Given the description of an element on the screen output the (x, y) to click on. 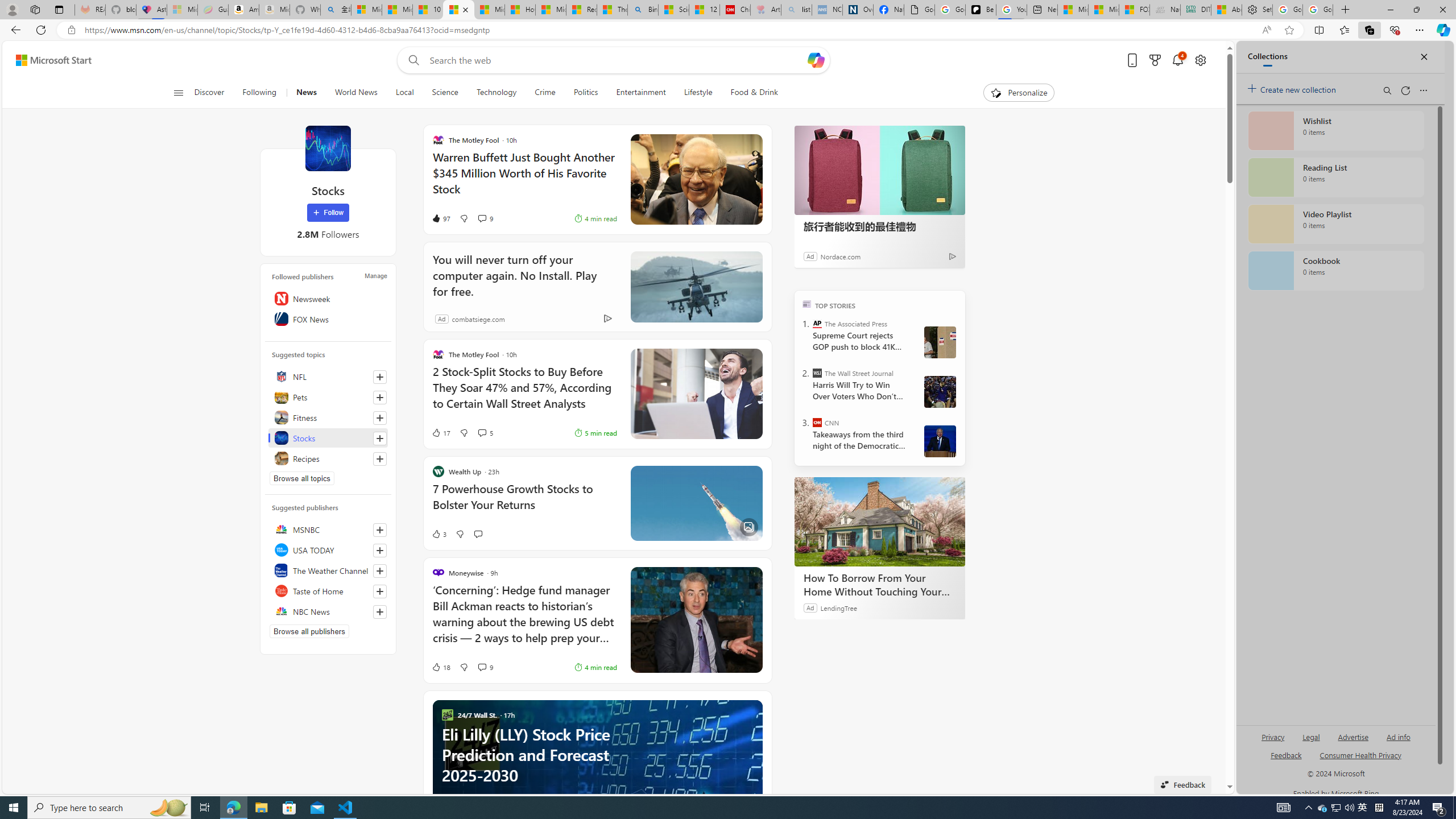
FOX News - MSN (1133, 9)
To get missing image descriptions, open the context menu. (995, 92)
Stocks (327, 148)
Newsweek (327, 298)
NFL (327, 376)
Lifestyle (697, 92)
